Given the description of an element on the screen output the (x, y) to click on. 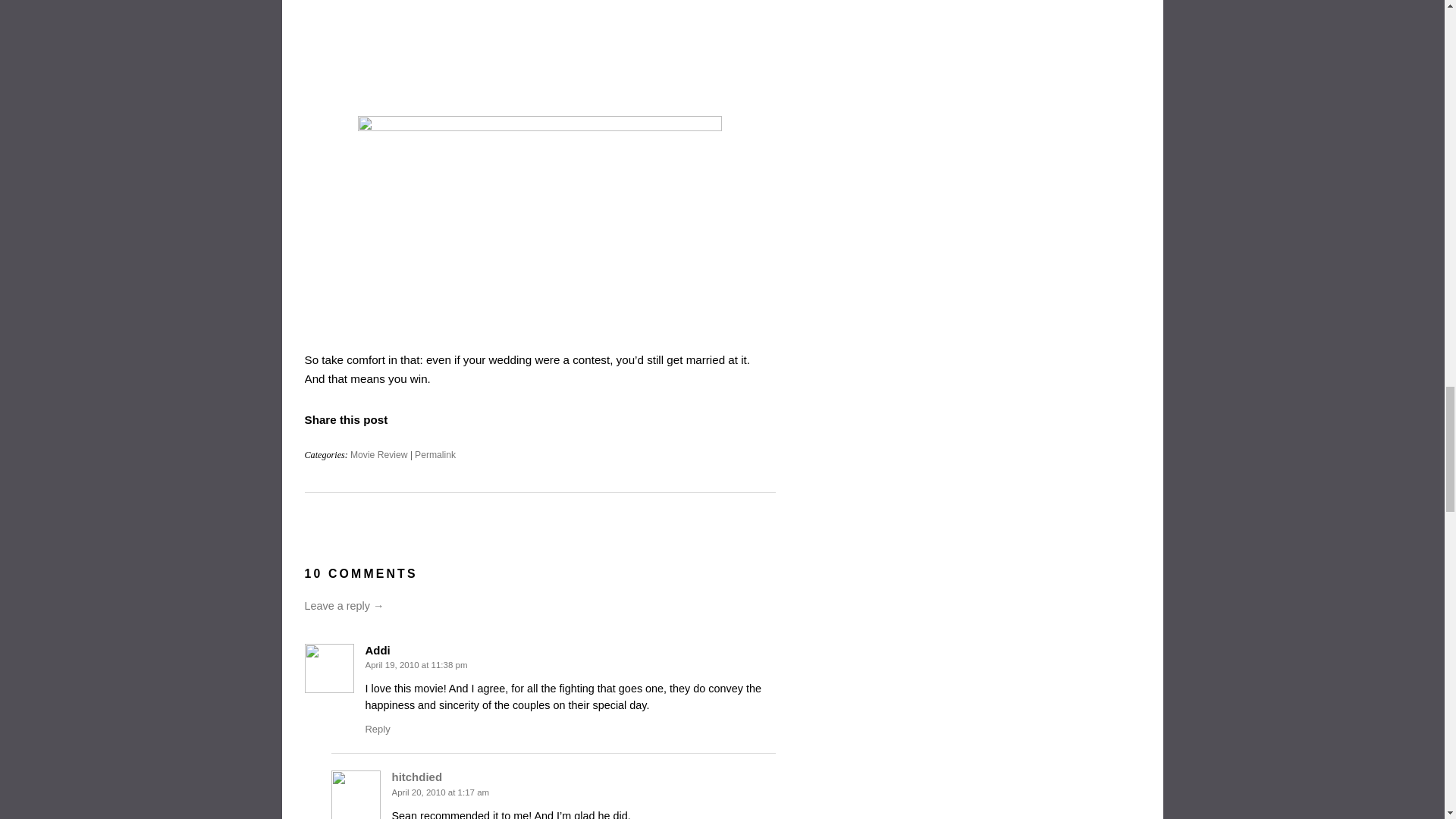
Michael and Joanna wedding (540, 218)
April 20, 2010 at 1:17 am (440, 791)
Movie Review (378, 454)
Reply (377, 728)
Permalink (434, 454)
April 19, 2010 at 11:38 pm (416, 664)
View all posts in Movie Review (378, 454)
hitchdied (416, 776)
Josef and Isabelle Wedding (540, 50)
